Given the description of an element on the screen output the (x, y) to click on. 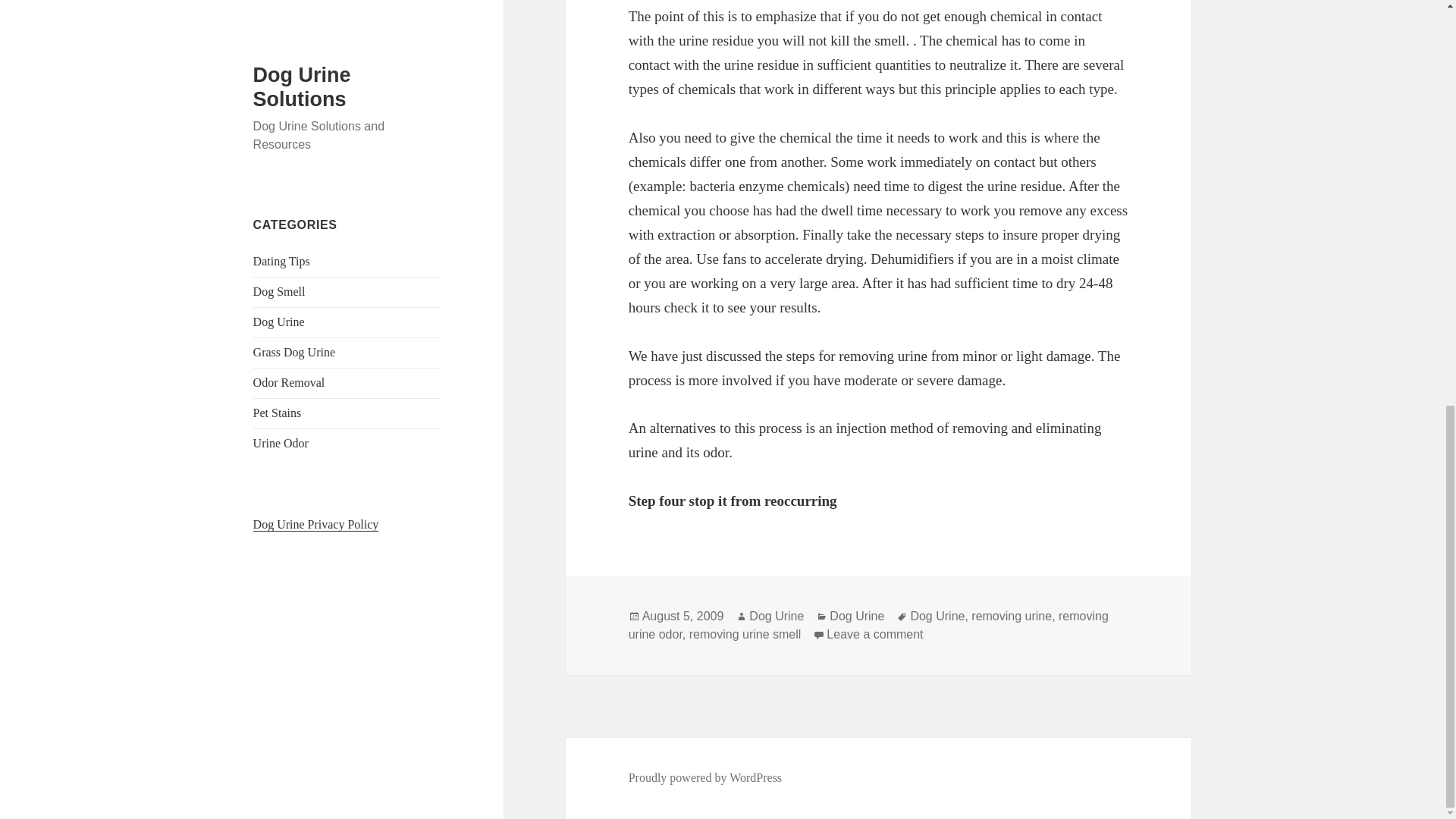
Proudly powered by WordPress (704, 777)
Dog Urine (875, 634)
Dog Urine (776, 616)
August 5, 2009 (936, 616)
removing urine smell (682, 616)
removing urine (745, 634)
Dog Urine (1011, 616)
removing urine odor (856, 616)
